Given the description of an element on the screen output the (x, y) to click on. 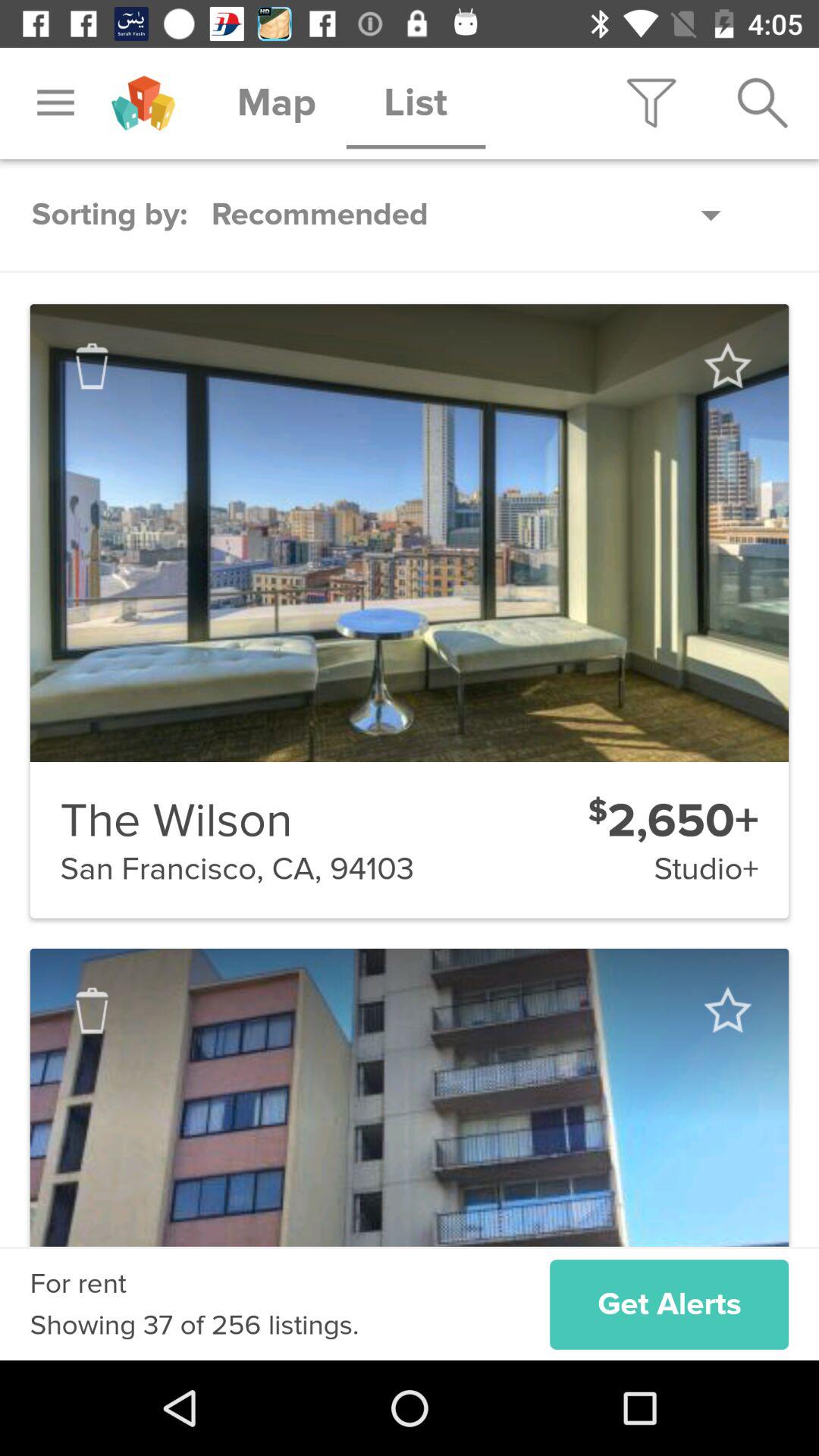
delete item (92, 1010)
